Given the description of an element on the screen output the (x, y) to click on. 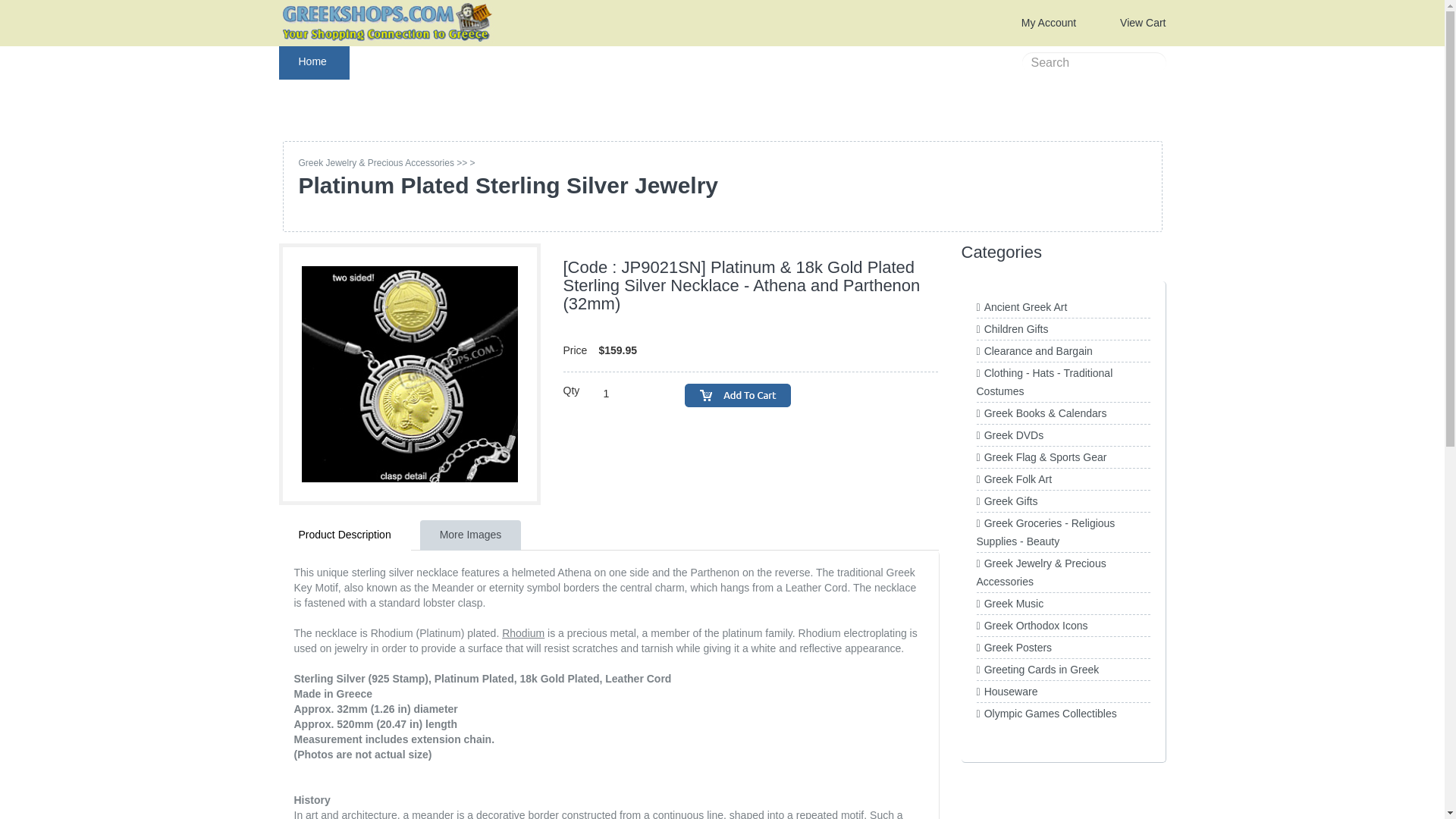
1 (606, 394)
Button (1155, 62)
View Cart (1132, 23)
Departments (403, 62)
My Account (1039, 23)
Button (1155, 62)
Home (314, 62)
